Given the description of an element on the screen output the (x, y) to click on. 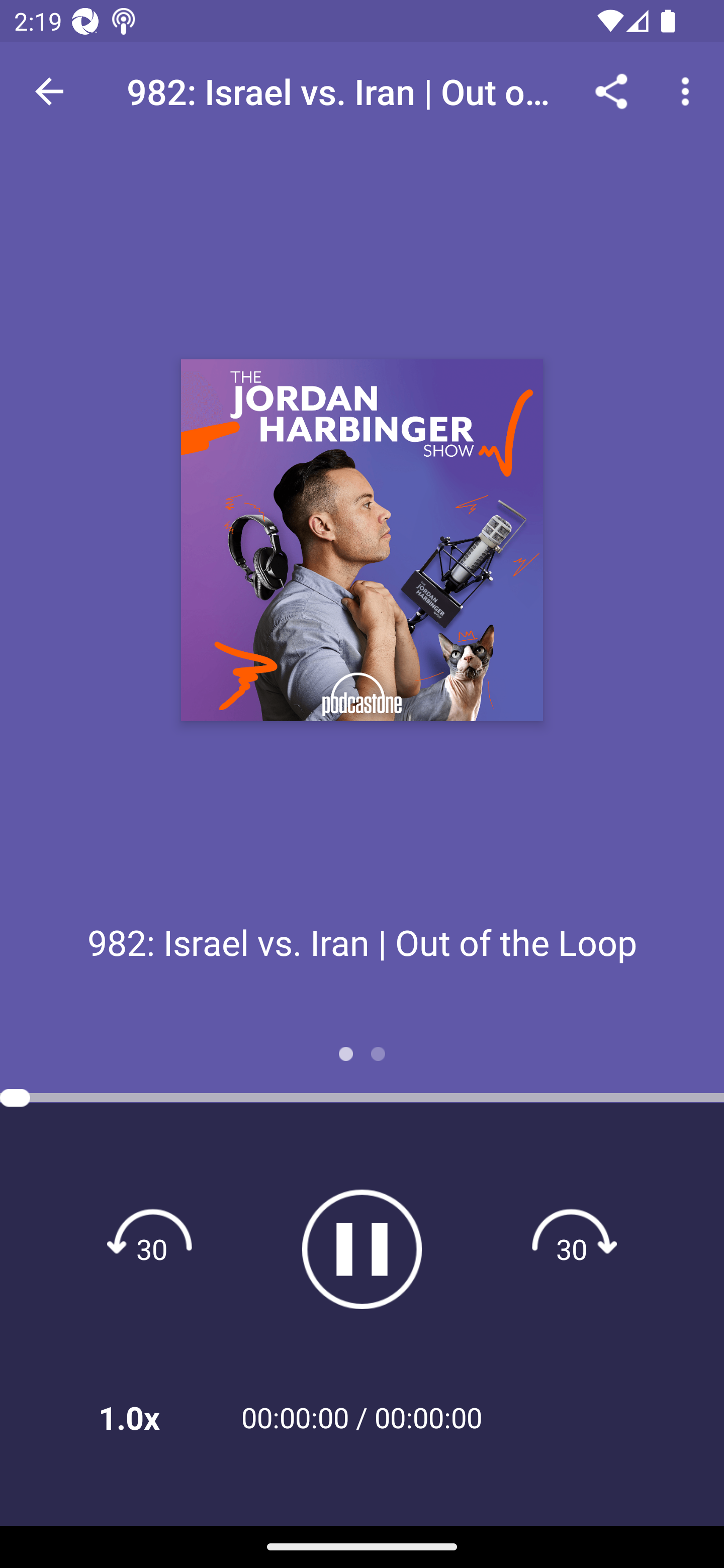
Navigate up (49, 91)
Share... (611, 90)
More options (688, 90)
Pause (361, 1249)
Rewind (151, 1248)
Fast forward (571, 1248)
1.0x Playback Speeds (154, 1417)
00:00:00 (428, 1417)
